Given the description of an element on the screen output the (x, y) to click on. 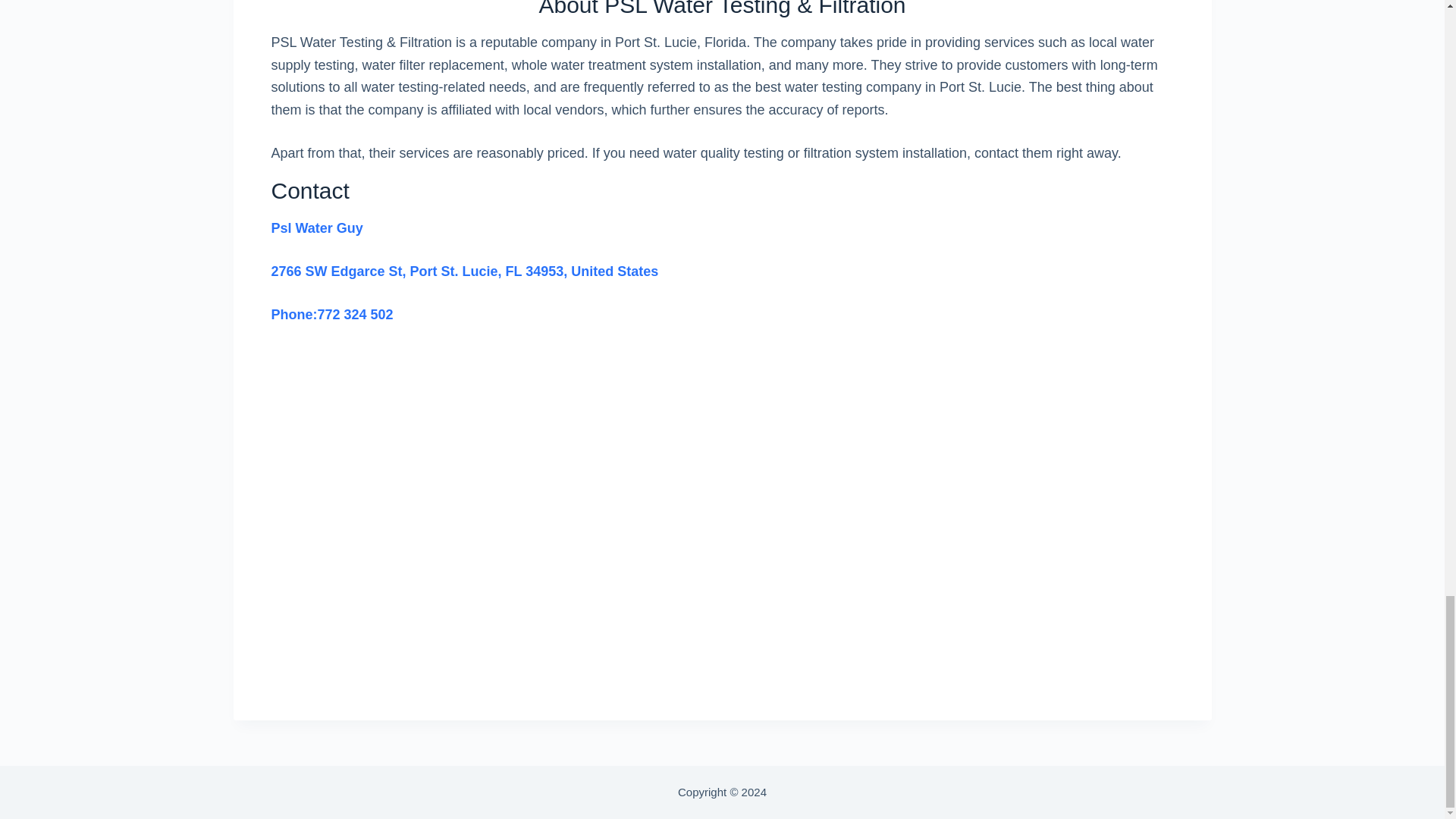
2766 SW Edgarce St, Port St. Lucie, FL 34953, United States (464, 271)
Phone:772 324 502 (331, 314)
Psl Water Guy (316, 227)
